Given the description of an element on the screen output the (x, y) to click on. 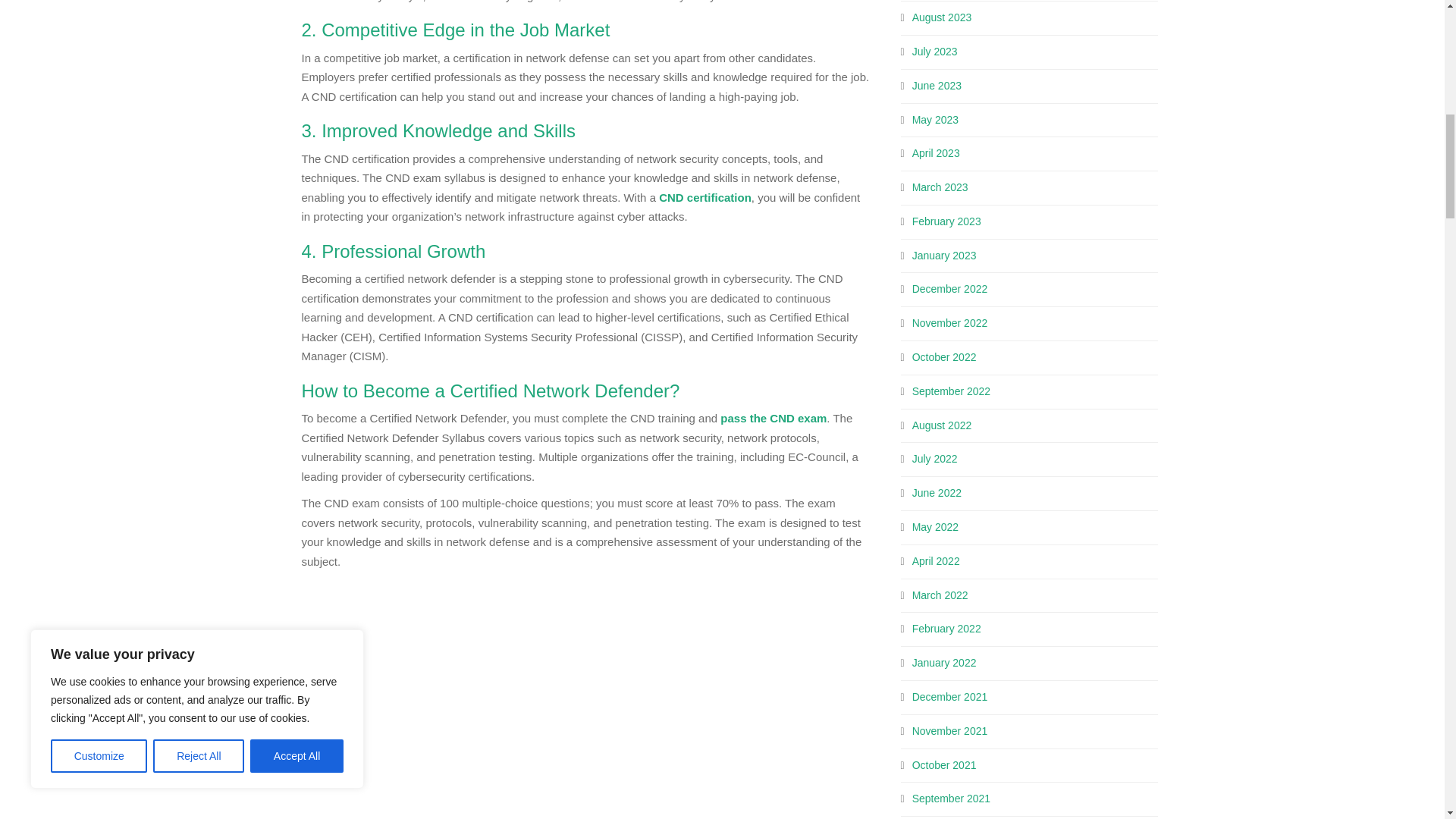
Prepare for EC-Council 312-38 Exam with Study Guide (578, 698)
pass the CND exam (773, 418)
CND certification (705, 196)
